Given the description of an element on the screen output the (x, y) to click on. 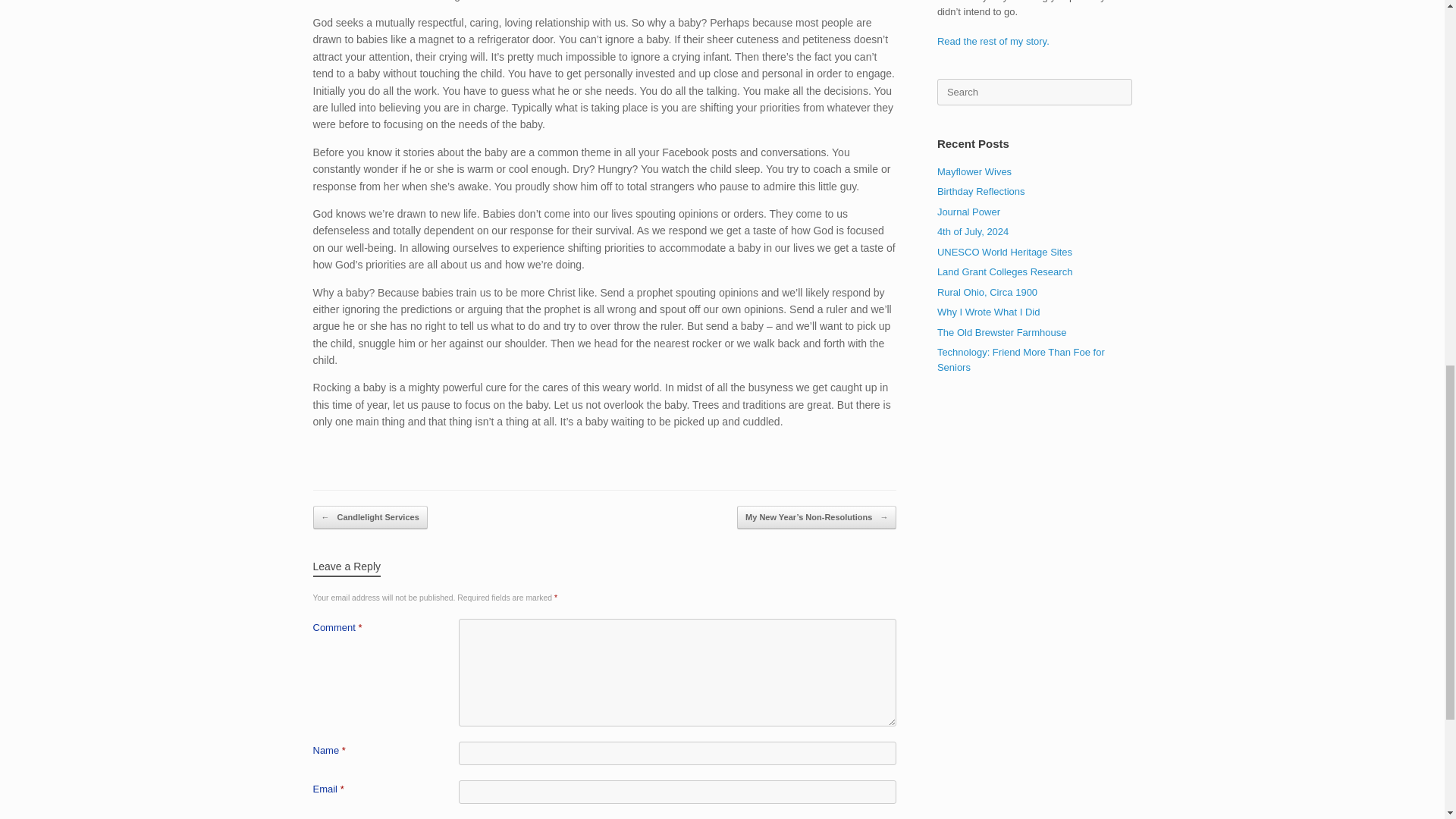
Birthday Reflections (981, 191)
Mayflower Wives (974, 171)
UNESCO World Heritage Sites (1004, 251)
Land Grant Colleges Research (1005, 271)
4th of July, 2024 (973, 231)
Journal Power (968, 211)
Read the rest of my story. (993, 41)
